Given the description of an element on the screen output the (x, y) to click on. 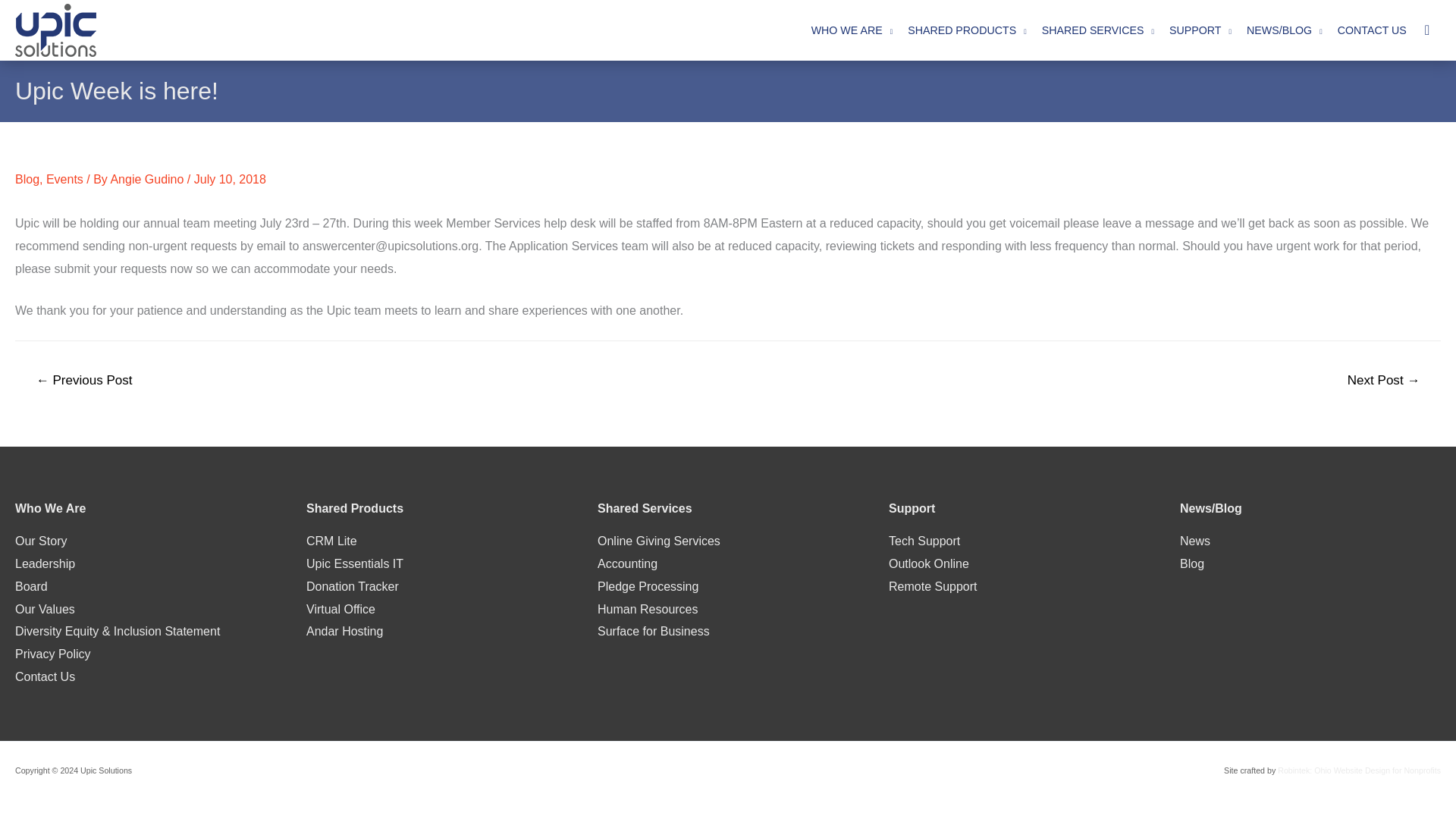
SHARED SERVICES (1097, 30)
Angie Gudino (148, 178)
WHO WE ARE (852, 30)
SHARED PRODUCTS (966, 30)
SUPPORT (1200, 30)
CONTACT US (1371, 30)
View all posts by Angie Gudino (148, 178)
Blog (26, 178)
Events (64, 178)
